Given the description of an element on the screen output the (x, y) to click on. 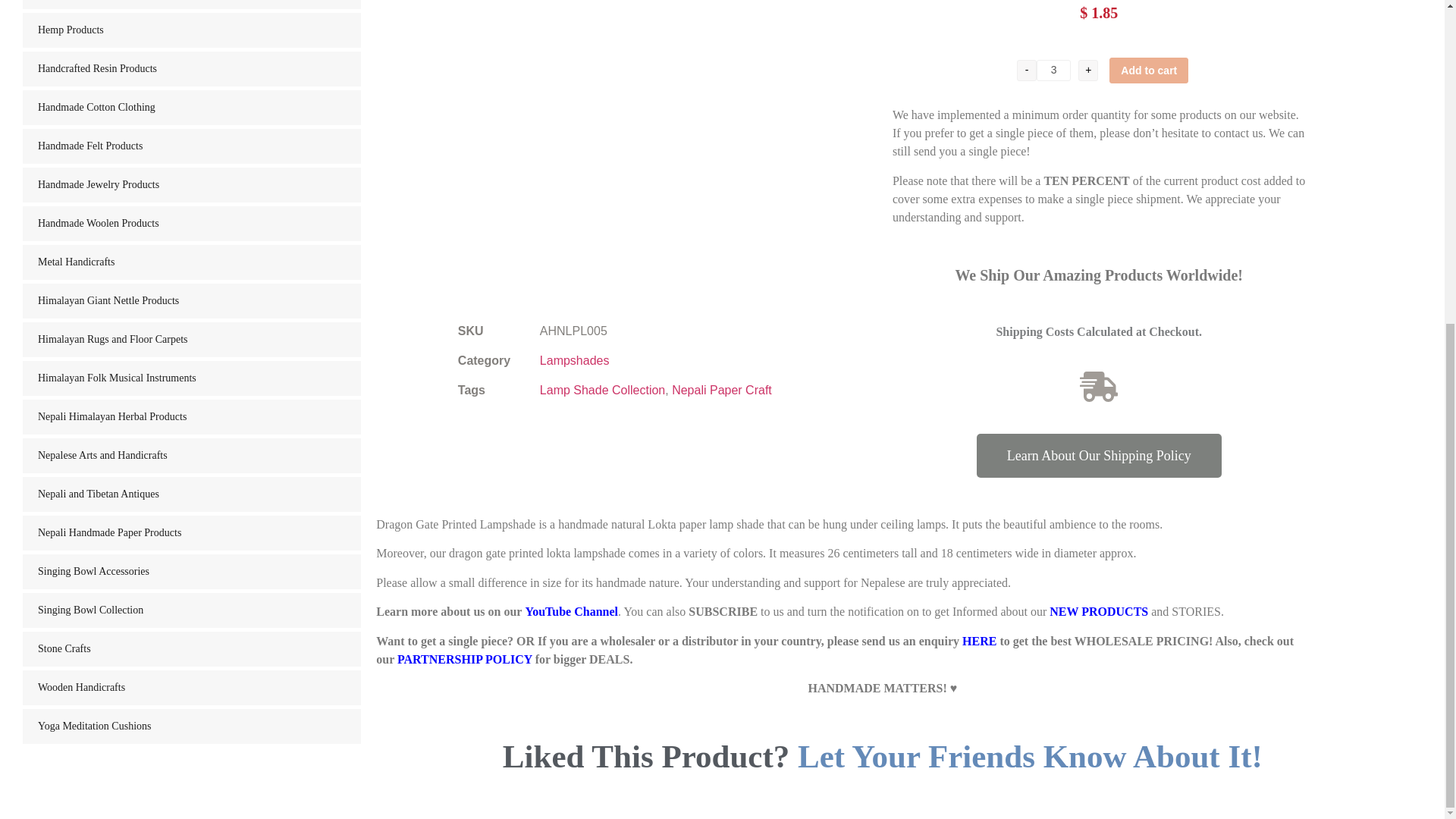
3 (1053, 70)
Qty (1053, 70)
